Given the description of an element on the screen output the (x, y) to click on. 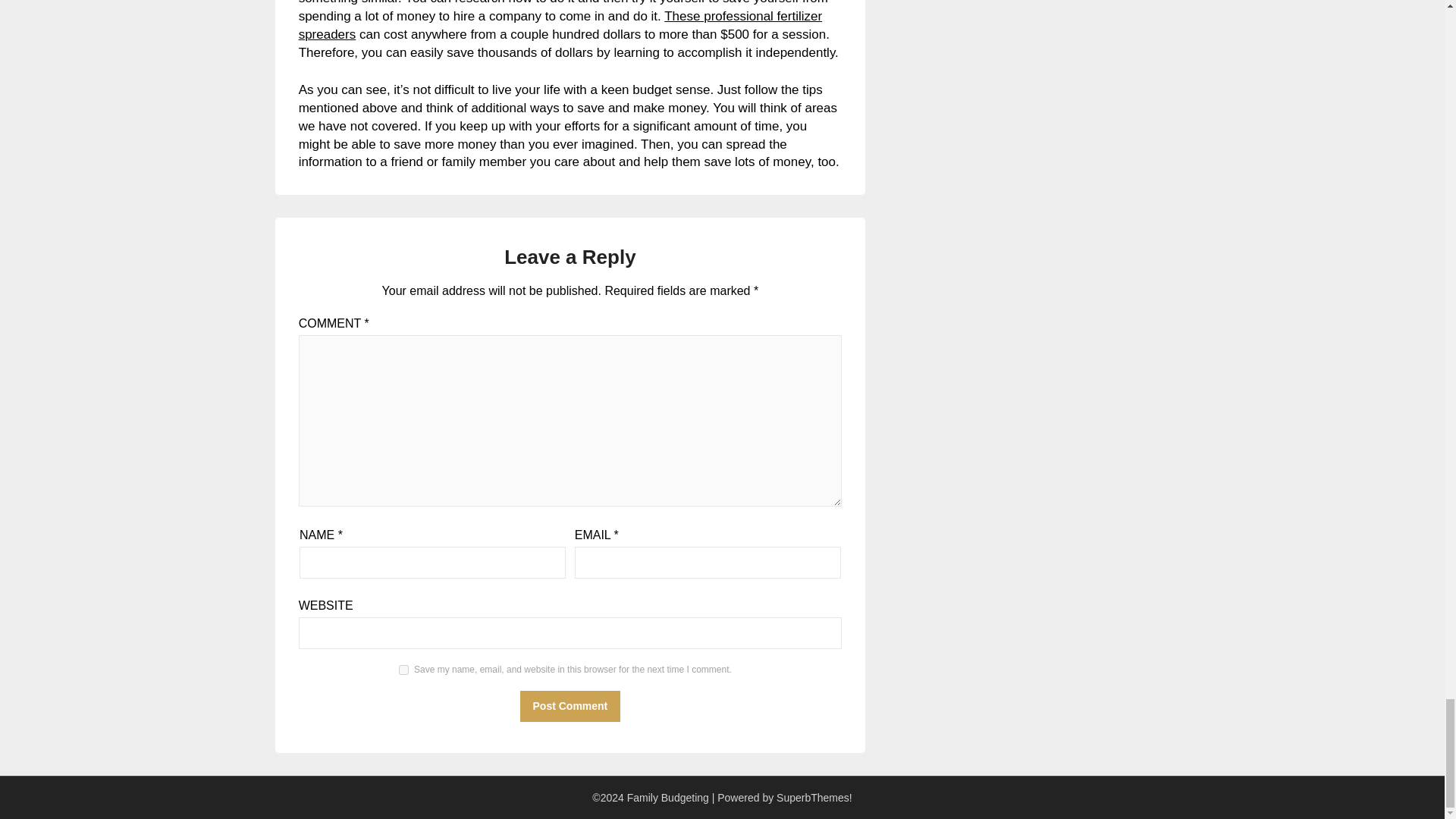
Post Comment (570, 706)
SuperbThemes! (813, 797)
yes (403, 669)
Post Comment (570, 706)
These professional fertilizer spreaders (560, 25)
